Given the description of an element on the screen output the (x, y) to click on. 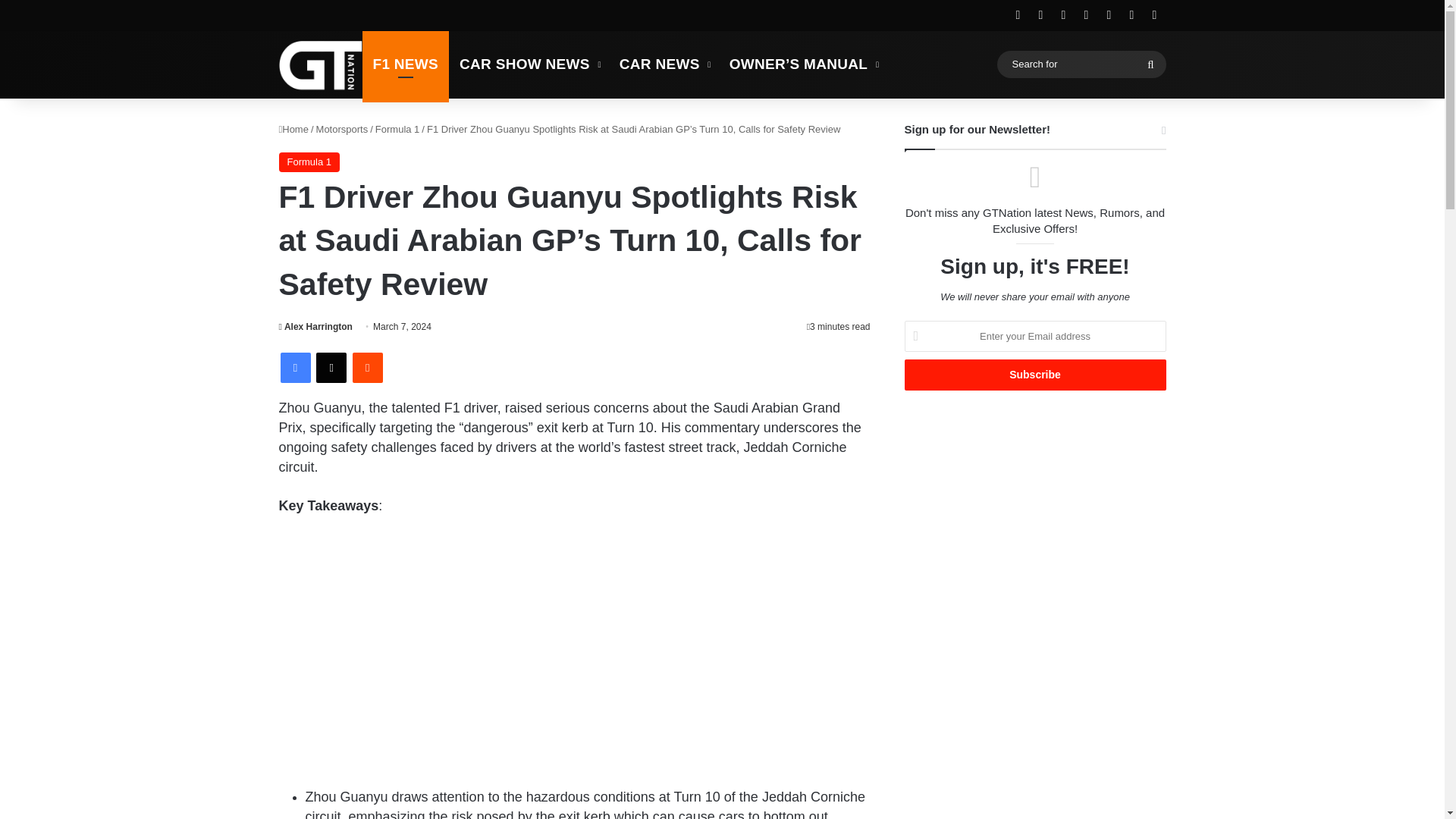
Alex Harrington (315, 326)
Alex Harrington (315, 326)
CAR SHOW NEWS (528, 64)
CAR NEWS (663, 64)
Facebook (296, 367)
Home (293, 129)
X (330, 367)
Reddit (367, 367)
Grand Tour Nation (320, 64)
Subscribe (1035, 374)
